Given the description of an element on the screen output the (x, y) to click on. 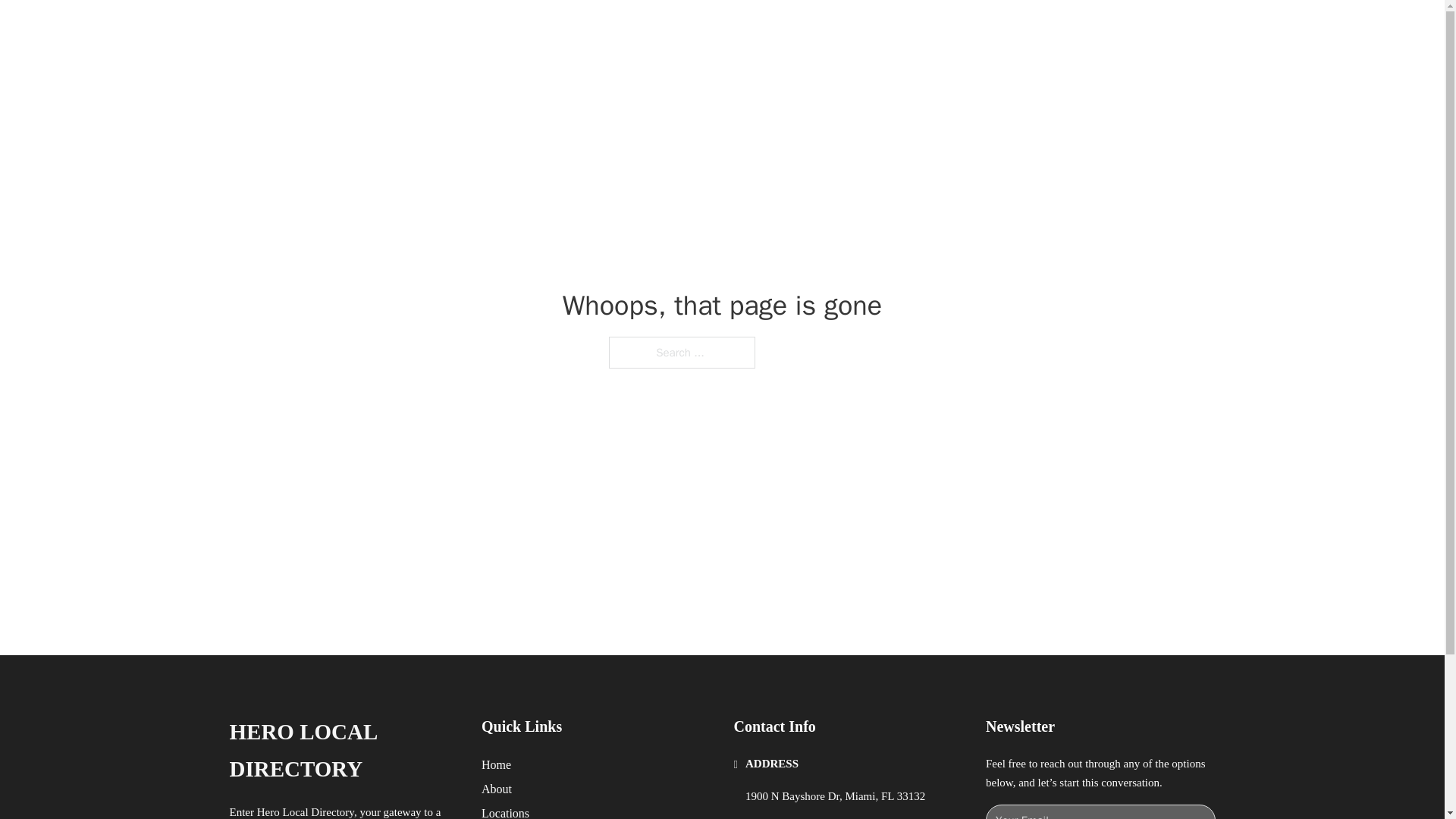
HERO LOCAL DIRECTORY (432, 28)
Home (496, 764)
LOCATIONS (990, 29)
HOME (919, 29)
About (496, 788)
HERO LOCAL DIRECTORY (343, 750)
Locations (505, 811)
